Given the description of an element on the screen output the (x, y) to click on. 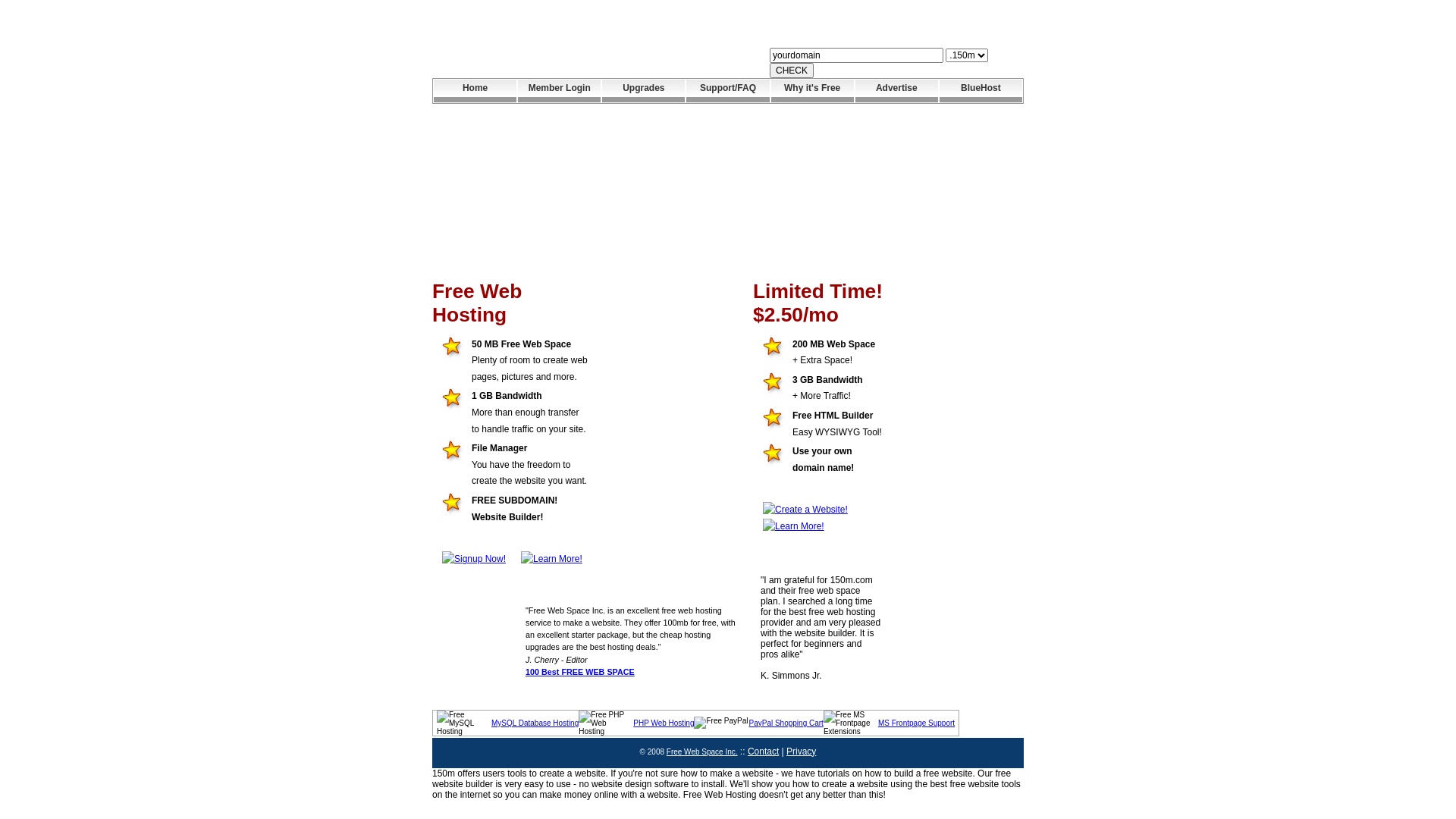
Why it's Free Element type: text (812, 90)
MS Frontpage Support Element type: text (916, 722)
MySQL Database Hosting Element type: text (534, 722)
BlueHost Element type: text (980, 90)
Support/FAQ Element type: text (727, 90)
CHECK Element type: text (791, 70)
Contact Element type: text (762, 751)
Member Login Element type: text (558, 90)
PHP Web Hosting Element type: text (663, 722)
PayPal Shopping Cart Element type: text (785, 722)
Upgrades Element type: text (643, 90)
100 Best FREE WEB SPACE Element type: text (579, 671)
Privacy Element type: text (800, 751)
Advertise Element type: text (896, 90)
Free Web Space Inc. Element type: text (701, 751)
Home Element type: text (474, 90)
